Given the description of an element on the screen output the (x, y) to click on. 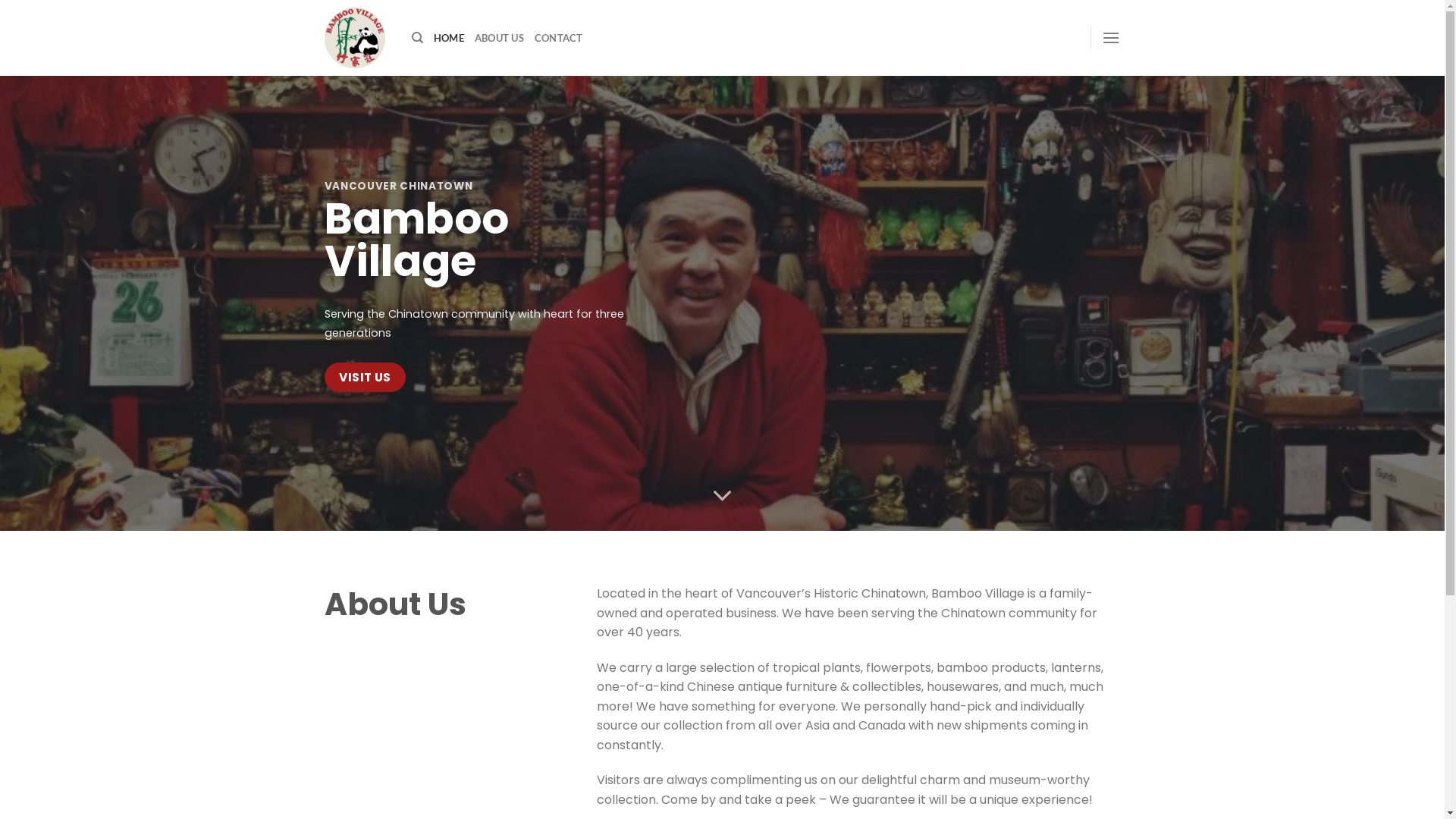
CONTACT Element type: text (558, 37)
Bamboo Village - Bamboo Village Element type: hover (356, 37)
HOME Element type: text (448, 37)
VISIT US Element type: text (365, 377)
ABOUT US Element type: text (499, 37)
Skip to content Element type: text (0, 0)
